Given the description of an element on the screen output the (x, y) to click on. 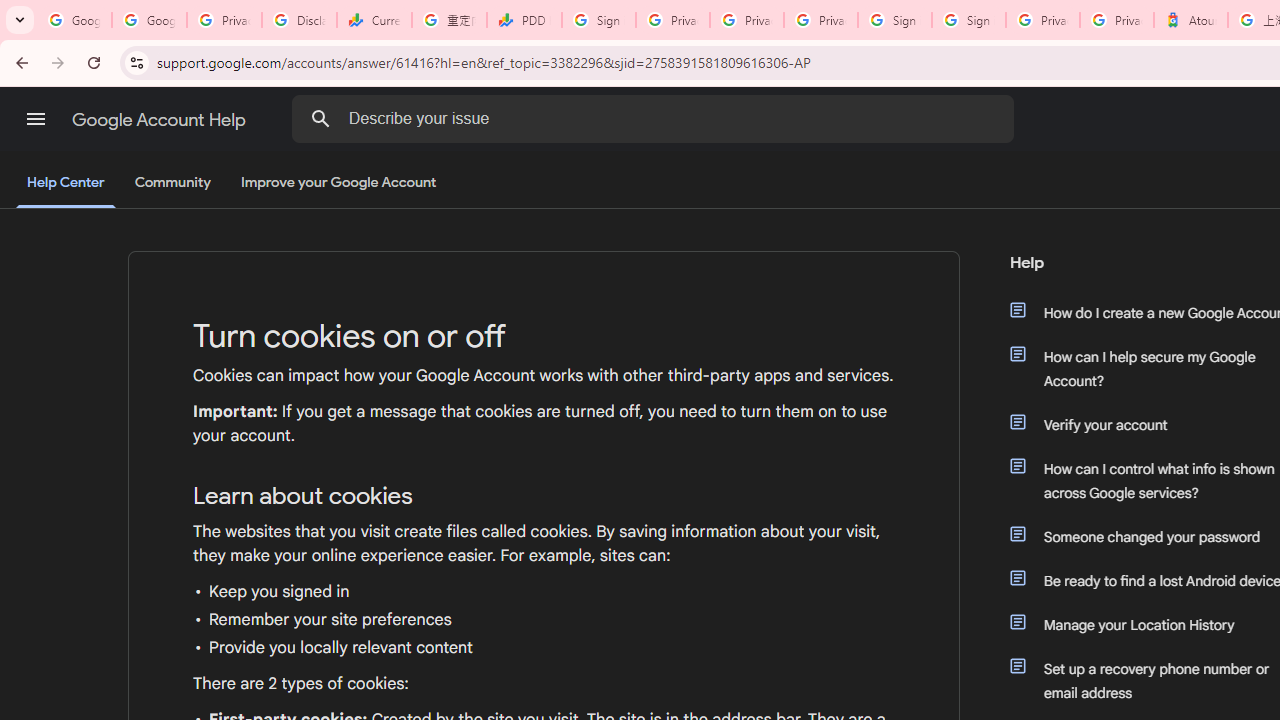
Google Workspace Admin Community (74, 20)
Sign in - Google Accounts (598, 20)
Sign in - Google Accounts (894, 20)
Privacy Checkup (820, 20)
Main menu (35, 119)
Google Account Help (160, 119)
Help Center (65, 183)
